Given the description of an element on the screen output the (x, y) to click on. 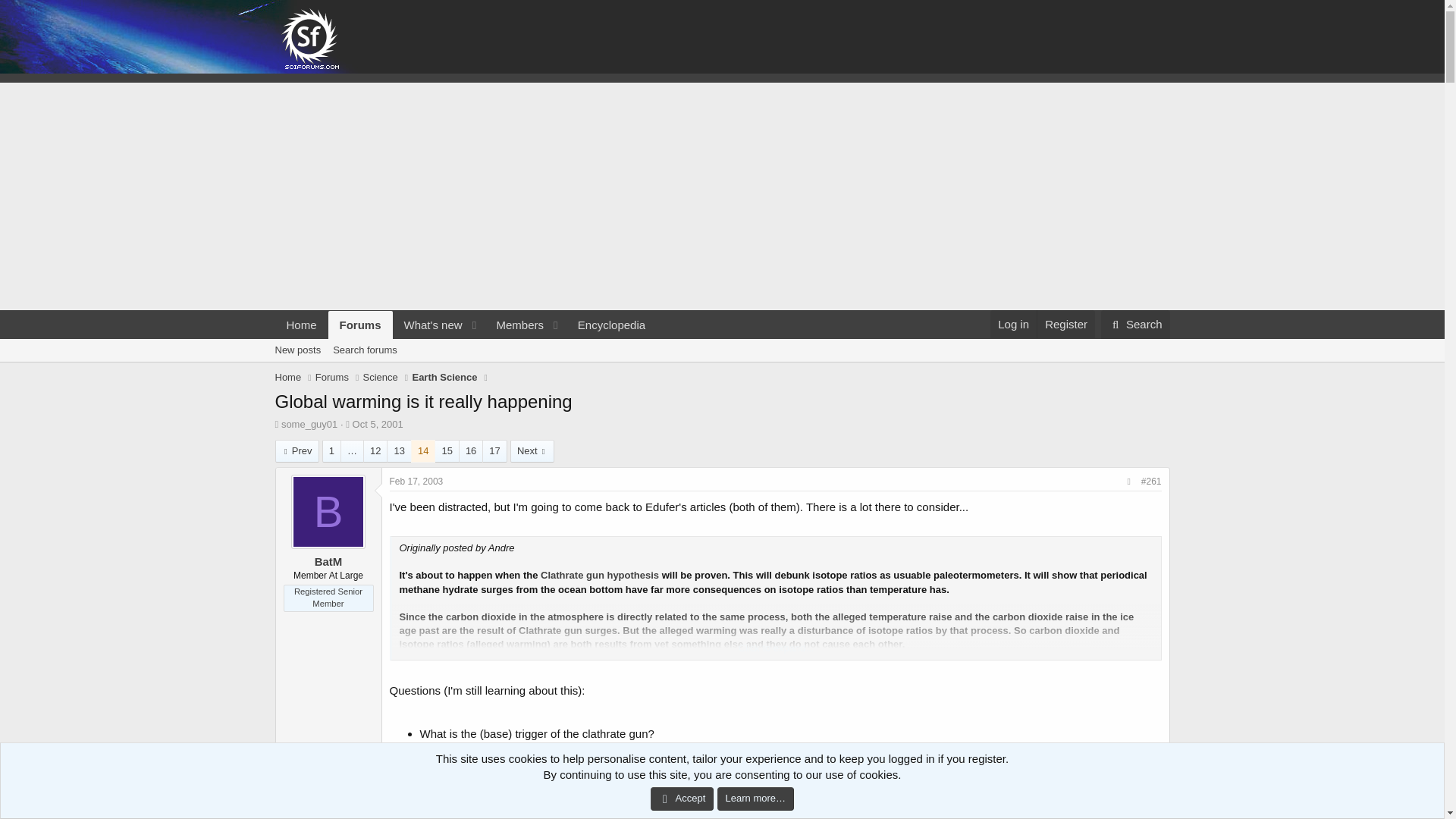
Search (1135, 324)
Forums (332, 377)
Earth Science (444, 377)
What's new (428, 325)
Forums (361, 325)
New posts (296, 350)
Home (288, 377)
Search forums (464, 342)
Members (364, 350)
Register (514, 325)
Feb 17, 2003 at 10:46 PM (1065, 324)
Oct 5, 2001 at 5:48 AM (417, 480)
Prev (377, 423)
